Given the description of an element on the screen output the (x, y) to click on. 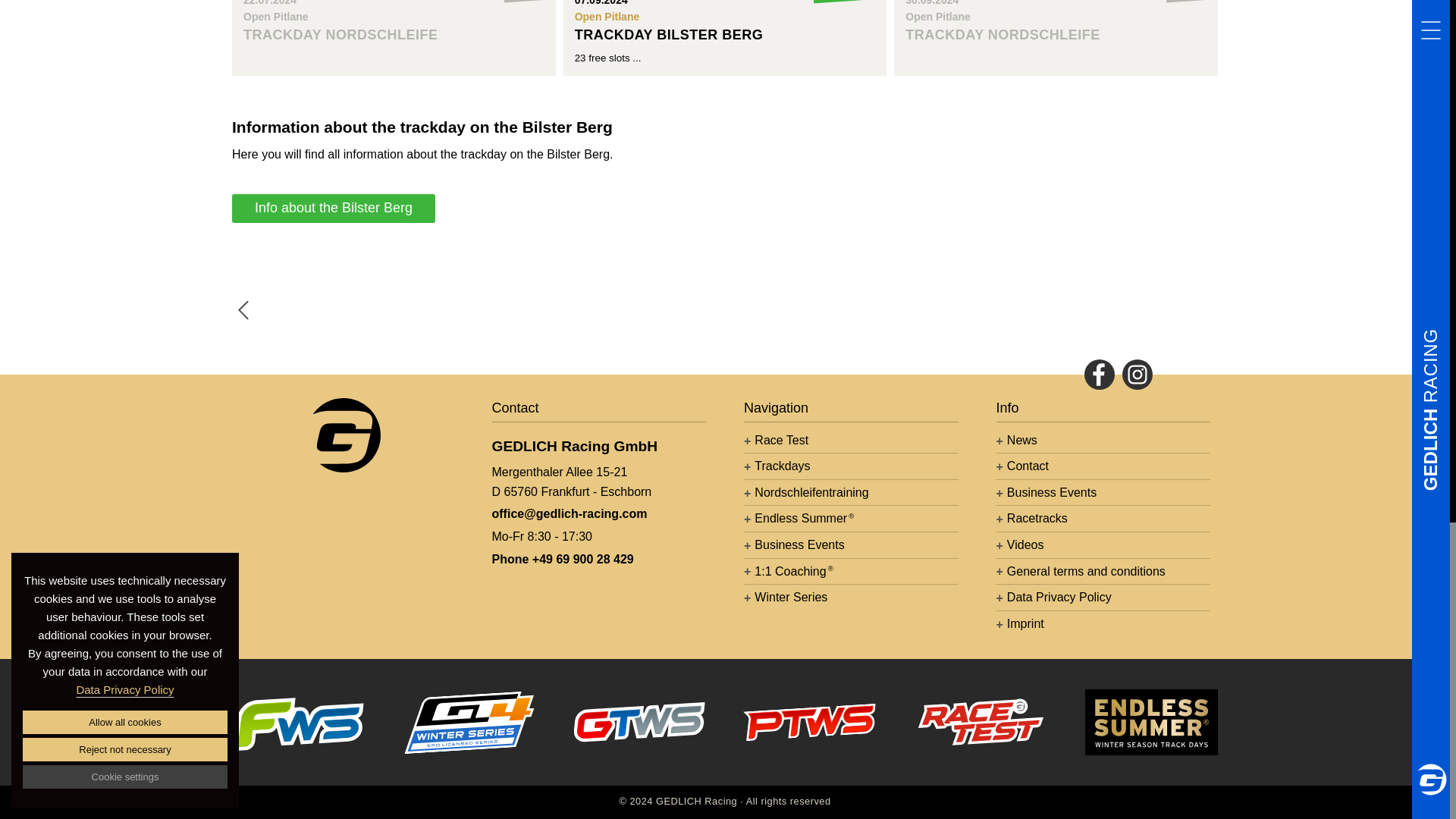
GEDLICH Racing on Instagram (1137, 374)
Info about the Bilster Berg (393, 22)
GEDLICH Racing on Facebook (333, 208)
